Given the description of an element on the screen output the (x, y) to click on. 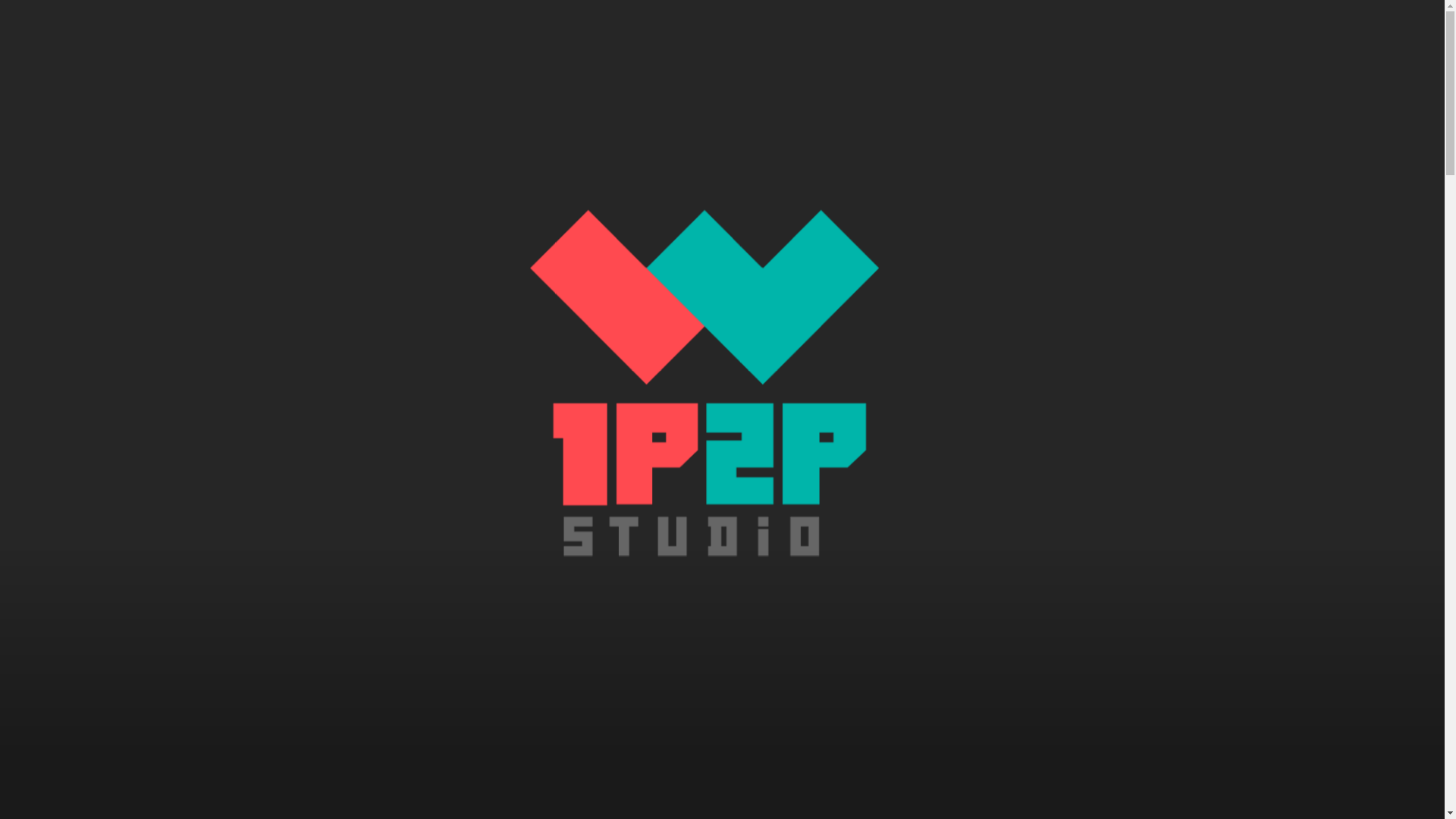
1P2P Element type: text (419, 798)
Skip to content Element type: text (0, 0)
